Given the description of an element on the screen output the (x, y) to click on. 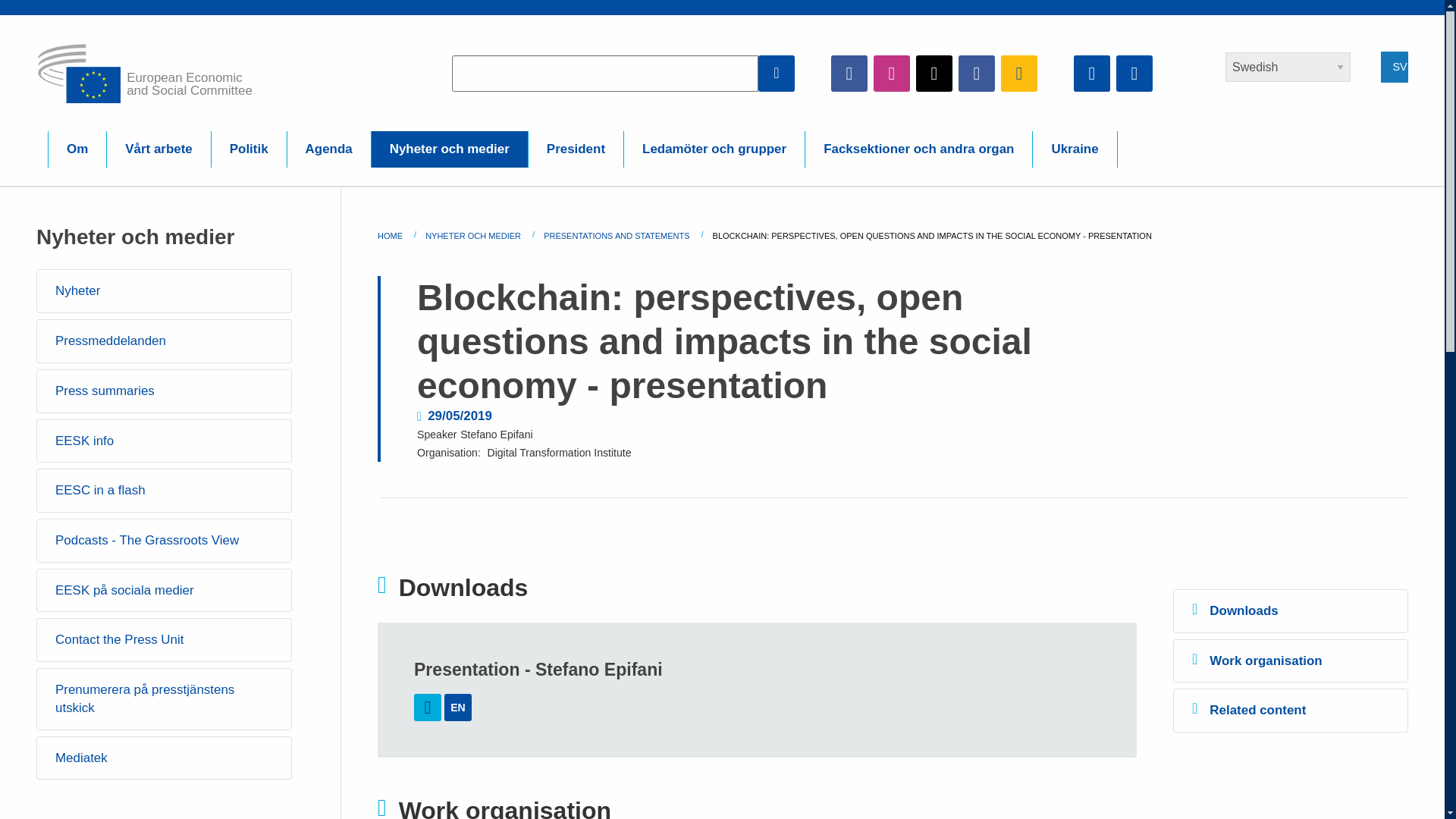
Apply (776, 72)
